Given the description of an element on the screen output the (x, y) to click on. 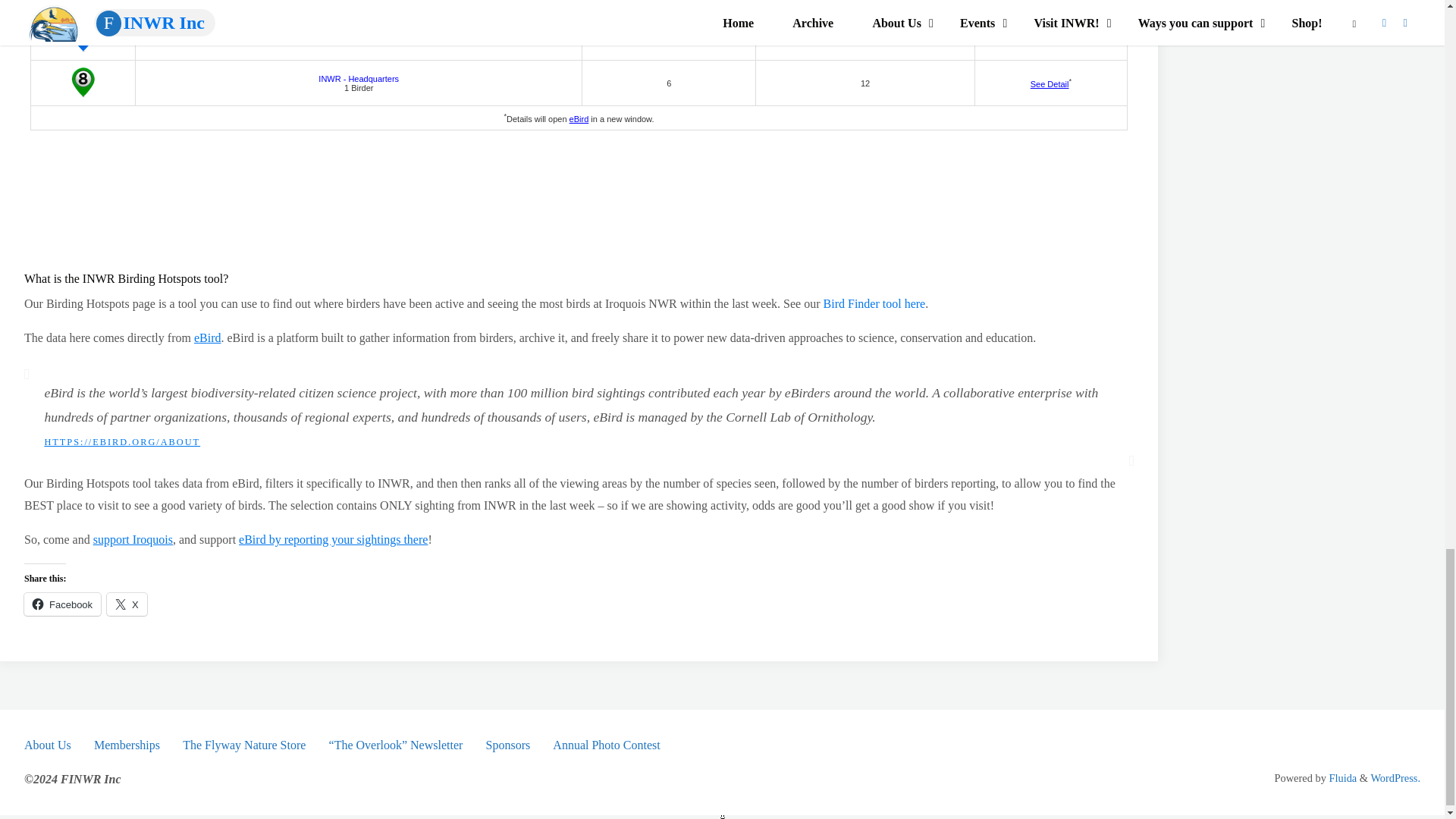
Click to share on Facebook (62, 603)
Semantic Personal Publishing Platform (1395, 777)
Fluida WordPress Theme by Cryout Creations (1341, 777)
Click to share on X (126, 603)
